Given the description of an element on the screen output the (x, y) to click on. 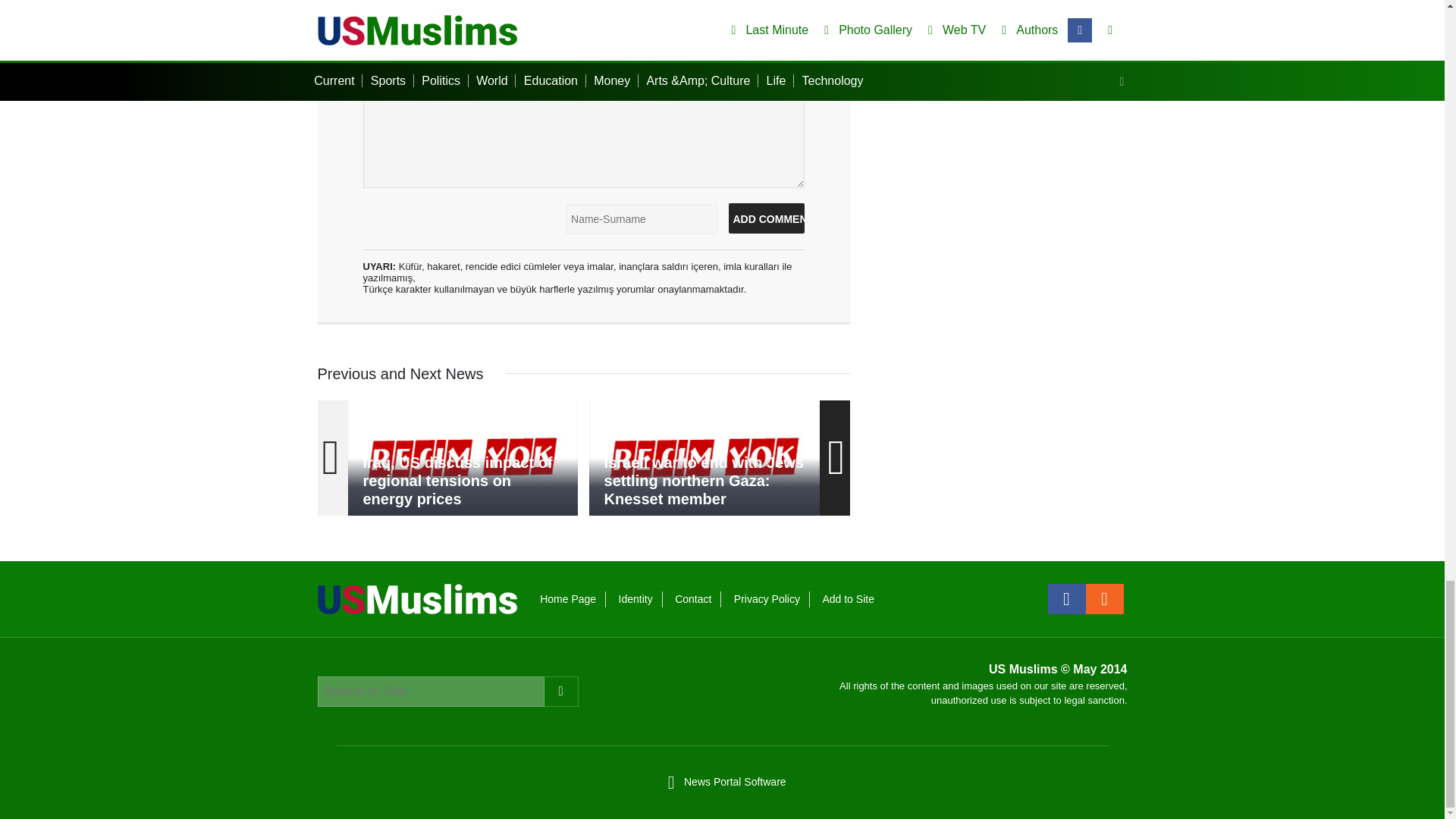
ADD COMMENT (765, 218)
Home Page (567, 598)
Home Page (567, 598)
ADD COMMENT (765, 218)
US Muslims (416, 597)
